Given the description of an element on the screen output the (x, y) to click on. 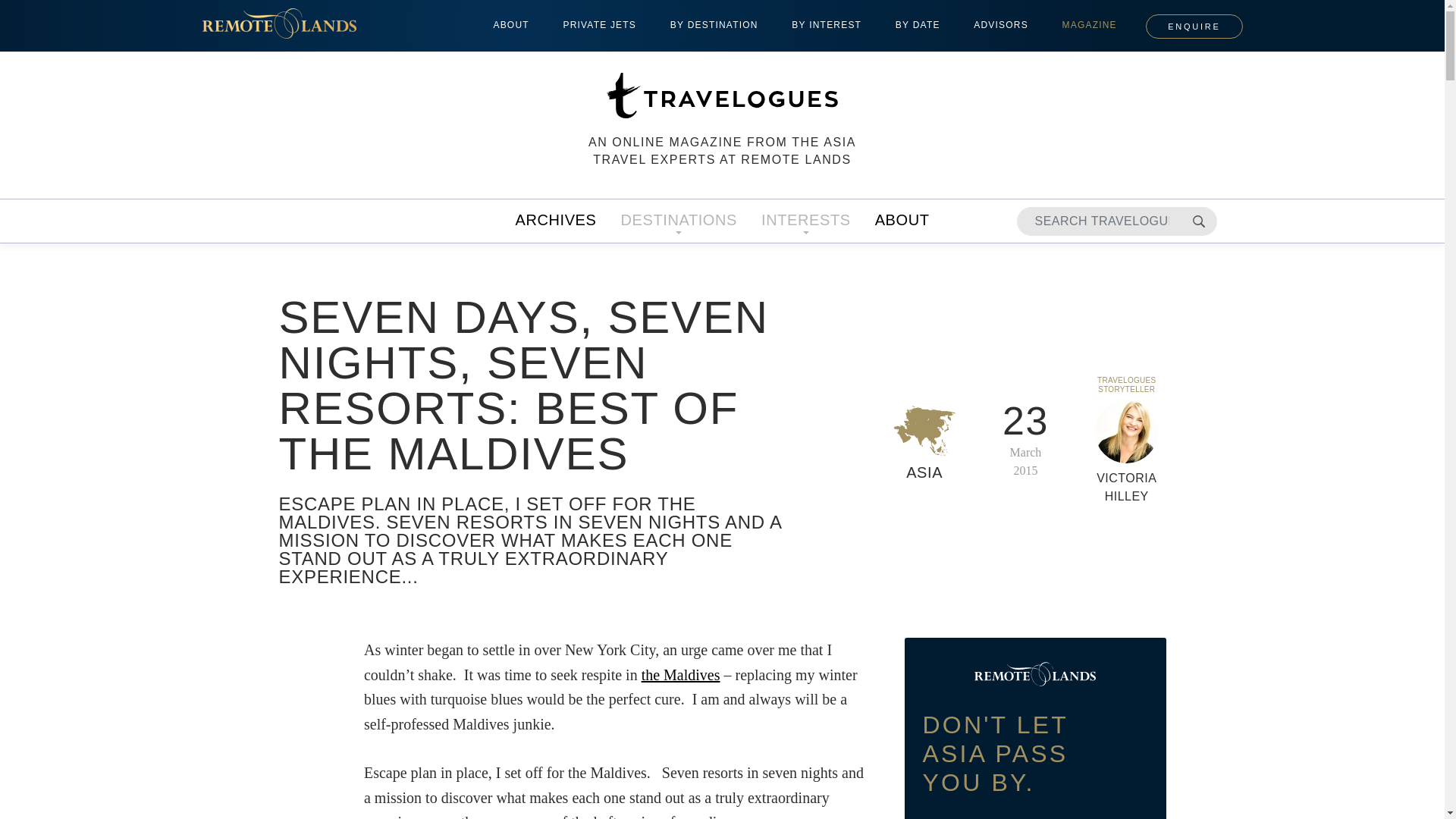
Travelogues from Remote Lands (722, 94)
Search (1197, 221)
ARCHIVES (555, 220)
Search (1197, 221)
DESTINATIONS (678, 220)
Search (1197, 221)
maldives (681, 674)
